Given the description of an element on the screen output the (x, y) to click on. 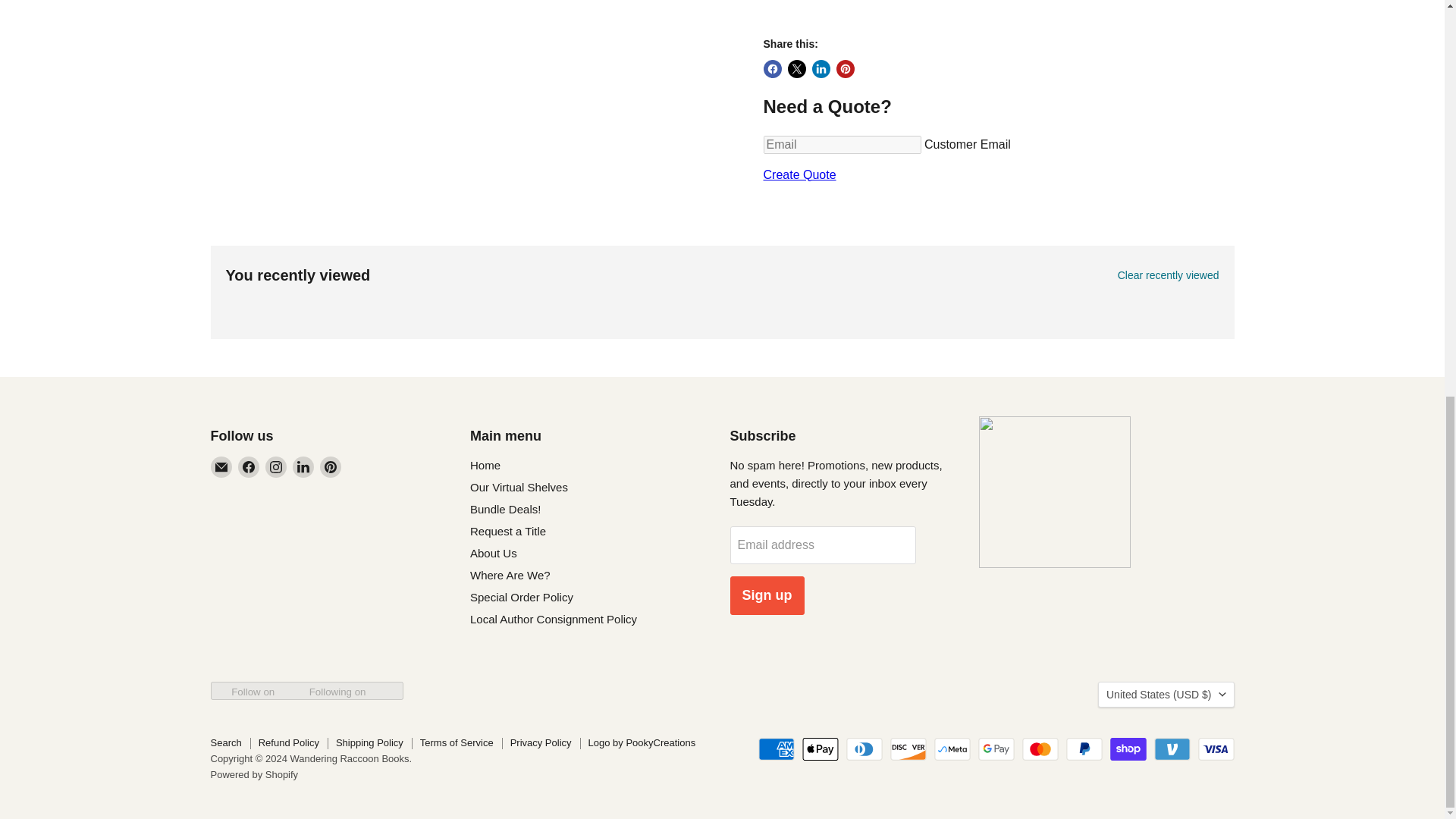
Apple Pay (820, 748)
LinkedIn (303, 466)
Instagram (275, 466)
Email (221, 466)
Pinterest (330, 466)
Share on Facebook (771, 68)
Facebook (248, 466)
American Express (776, 748)
